Given the description of an element on the screen output the (x, y) to click on. 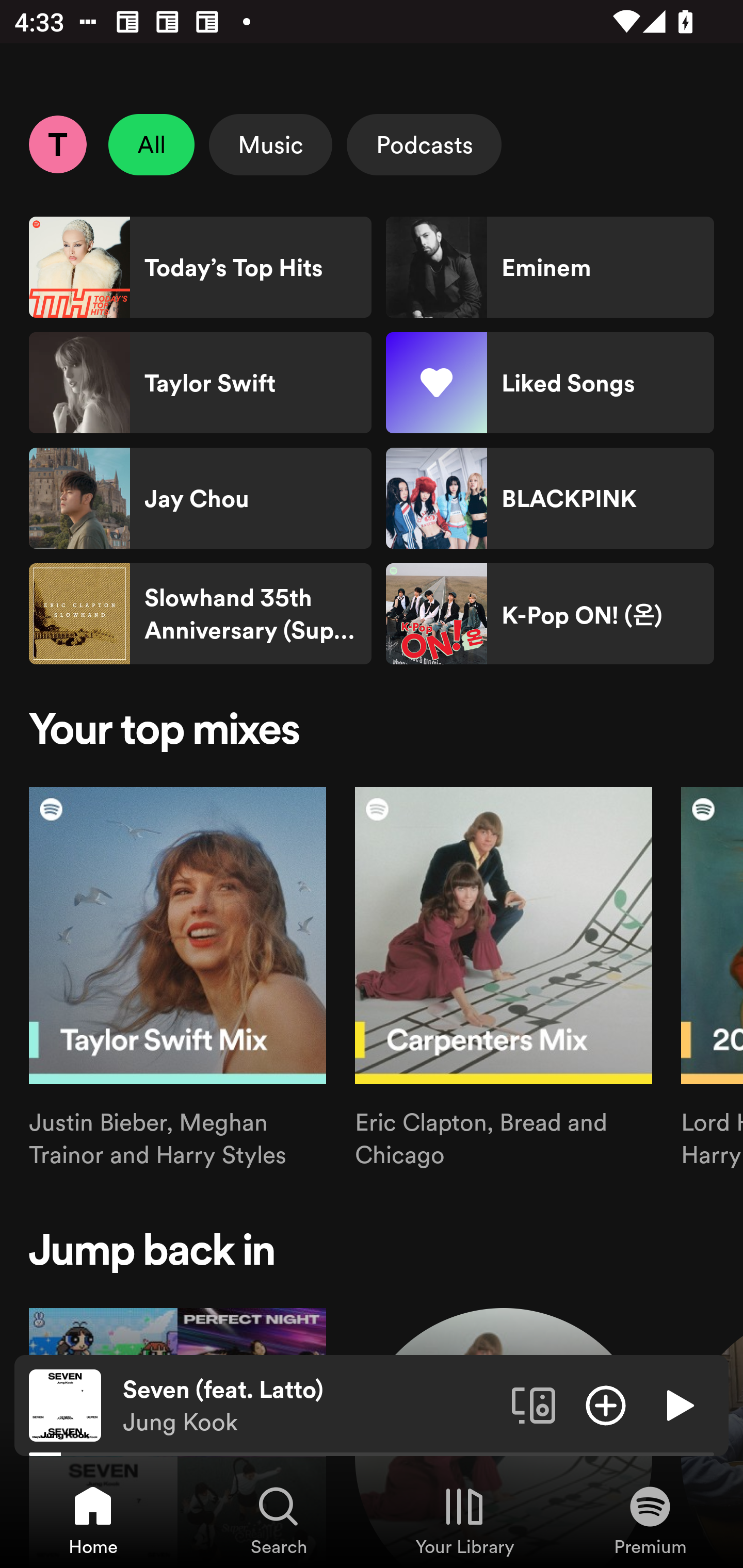
Profile (57, 144)
All Unselect All (151, 144)
Music Select Music (270, 144)
Podcasts Select Podcasts (423, 144)
Today’s Top Hits Shortcut Today’s Top Hits (199, 267)
Eminem Shortcut Eminem (549, 267)
Taylor Swift Shortcut Taylor Swift (199, 382)
Liked Songs Shortcut Liked Songs (549, 382)
Jay Chou Shortcut Jay Chou (199, 498)
BLACKPINK Shortcut BLACKPINK (549, 498)
K-Pop ON! (온) Shortcut K-Pop ON! (온) (549, 613)
Seven (feat. Latto) Jung Kook (309, 1405)
The cover art of the currently playing track (64, 1404)
Connect to a device. Opens the devices menu (533, 1404)
Add item (605, 1404)
Play (677, 1404)
Home, Tab 1 of 4 Home Home (92, 1519)
Search, Tab 2 of 4 Search Search (278, 1519)
Your Library, Tab 3 of 4 Your Library Your Library (464, 1519)
Premium, Tab 4 of 4 Premium Premium (650, 1519)
